Given the description of an element on the screen output the (x, y) to click on. 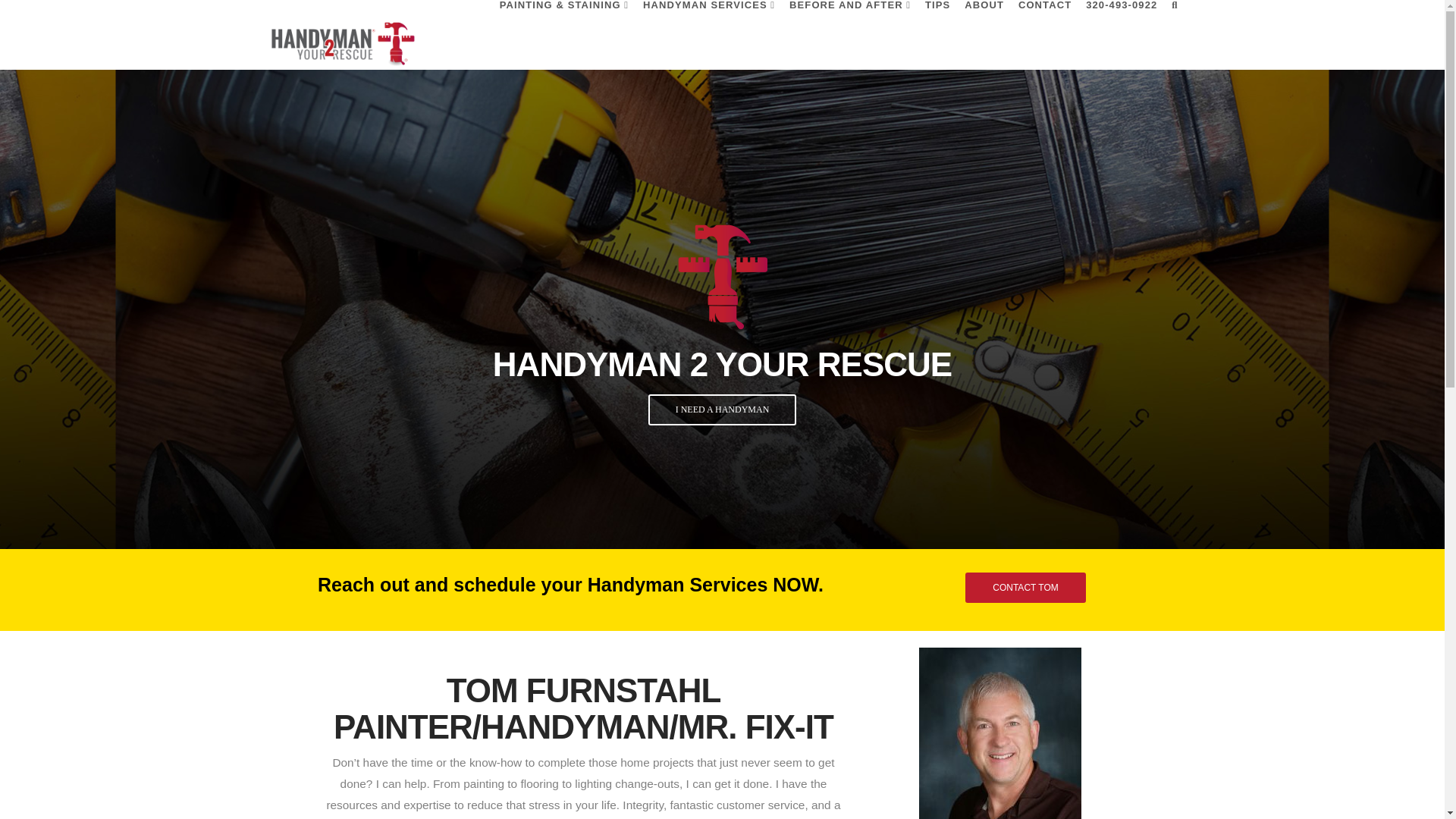
CONTACT (1044, 33)
Contact (1024, 587)
BEFORE AND AFTER (849, 33)
HANDYMAN SERVICES (707, 33)
I NEED A HANDYMAN (721, 409)
320-493-0922 (1120, 33)
CONTACT TOM (1024, 587)
